Given the description of an element on the screen output the (x, y) to click on. 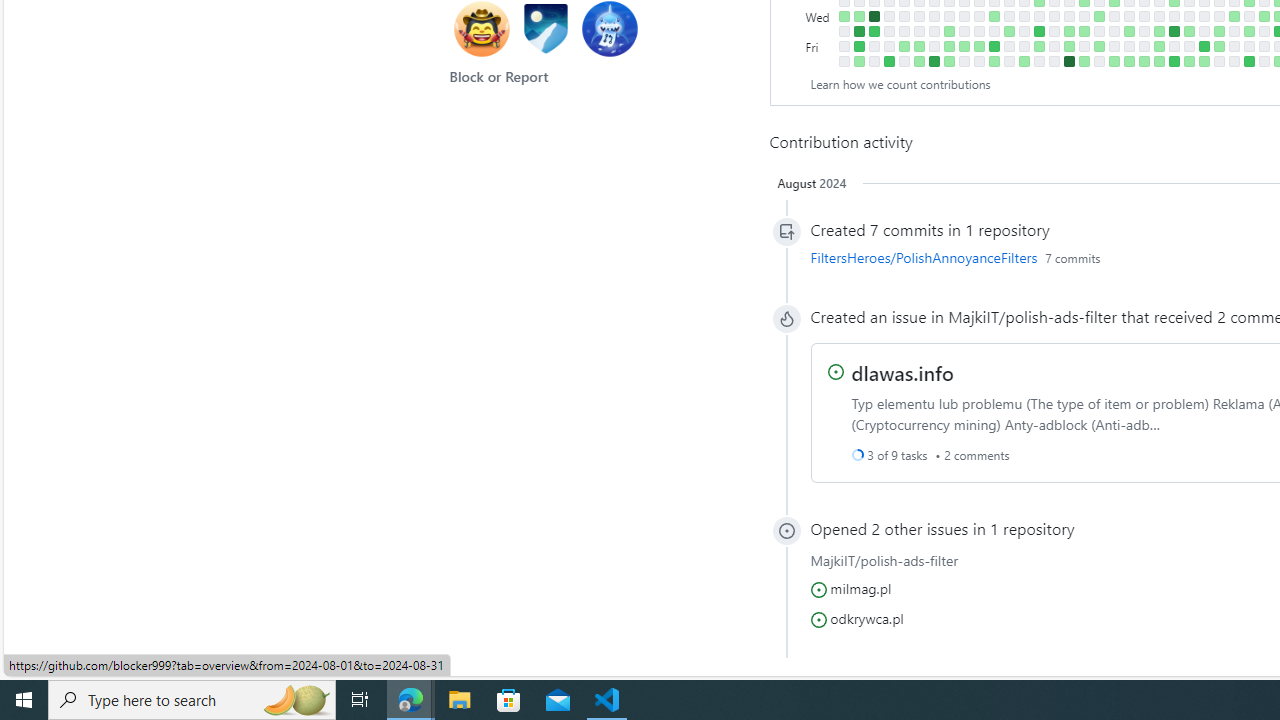
6 contributions on June 21st. (1203, 46)
3 contributions on April 5th. (1038, 46)
No contributions on April 17th. (1068, 16)
1 contribution on February 23rd. (948, 46)
No contributions on April 11th. (1053, 30)
3 contributions on January 10th. (858, 16)
2 contributions on July 3rd. (1233, 16)
2 contributions on May 1st. (1098, 16)
No contributions on May 8th. (1114, 16)
No contributions on March 14th. (993, 30)
2 contributions on July 11th. (1248, 30)
No contributions on May 2nd. (1098, 30)
No contributions on March 28th. (1023, 30)
No contributions on June 12th. (1188, 16)
No contributions on February 1st. (904, 30)
